Given the description of an element on the screen output the (x, y) to click on. 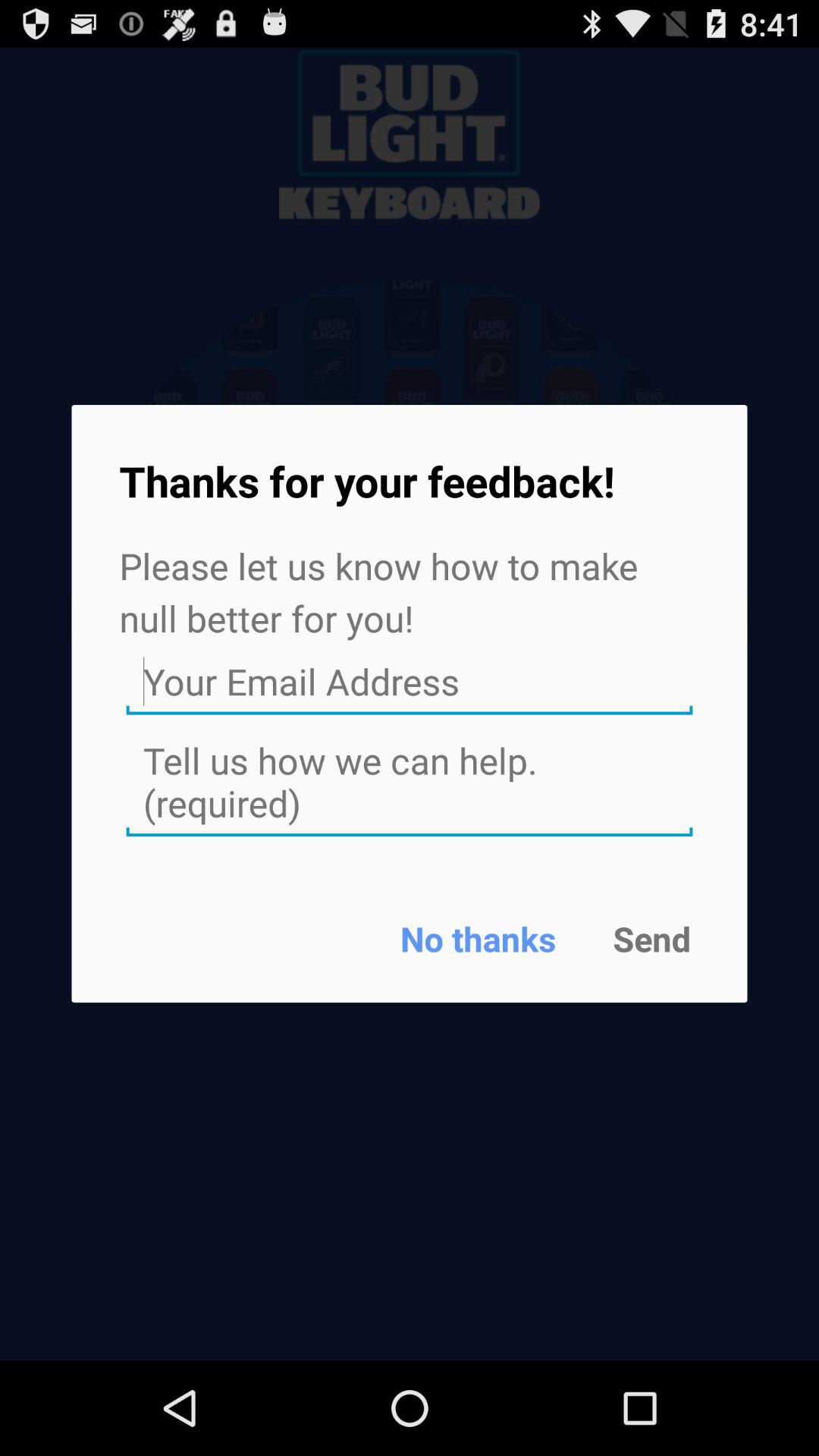
your email adress (409, 681)
